Given the description of an element on the screen output the (x, y) to click on. 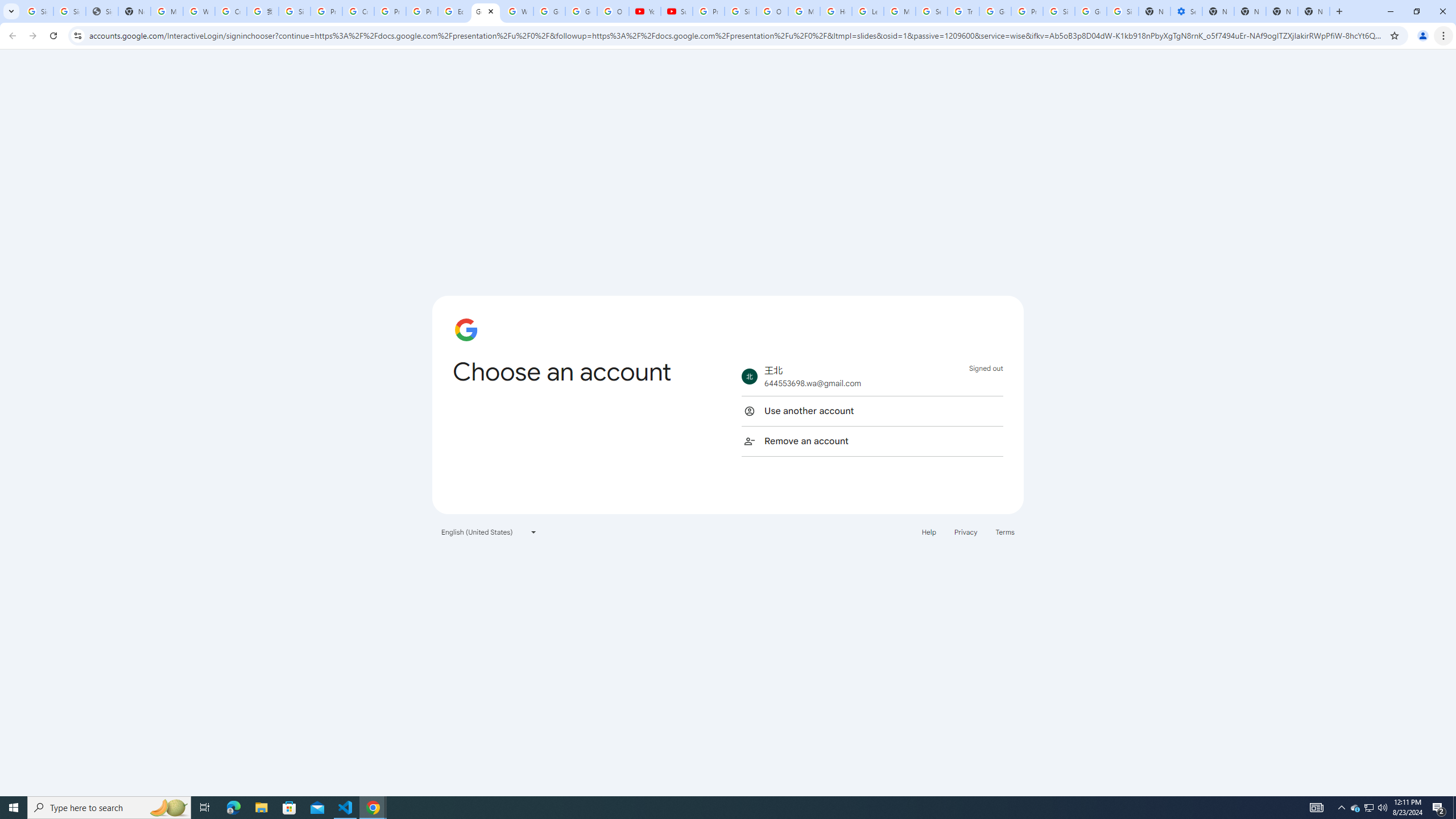
Welcome to My Activity (517, 11)
Sign in - Google Accounts (1059, 11)
Create your Google Account (358, 11)
Sign in - Google Accounts (69, 11)
